Given the description of an element on the screen output the (x, y) to click on. 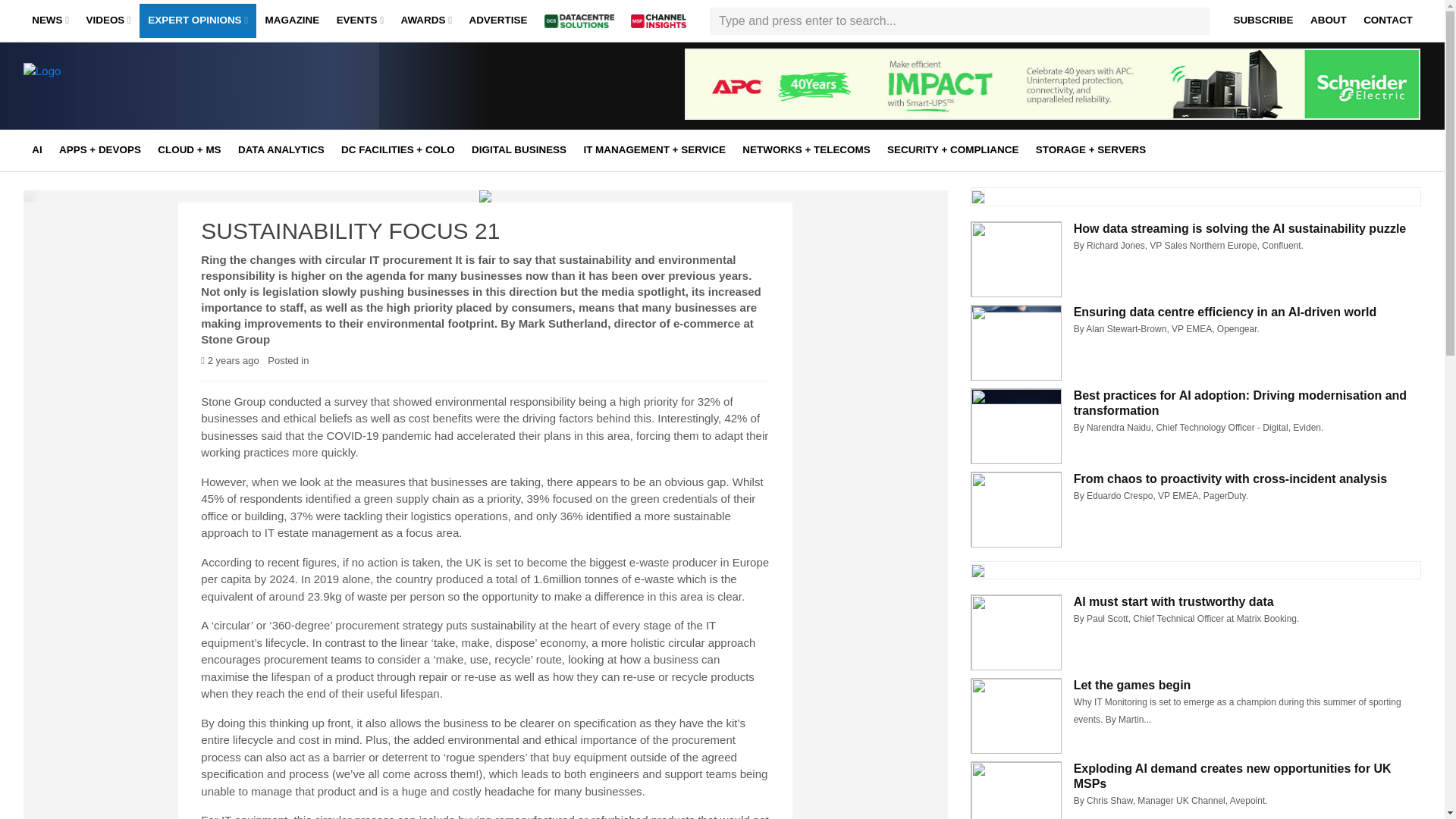
All Videos (180, 52)
NEWS (50, 21)
EXPERT OPINIONS (197, 21)
All Expert Opinions (242, 52)
VIDEOS (108, 21)
All News (126, 52)
